Given the description of an element on the screen output the (x, y) to click on. 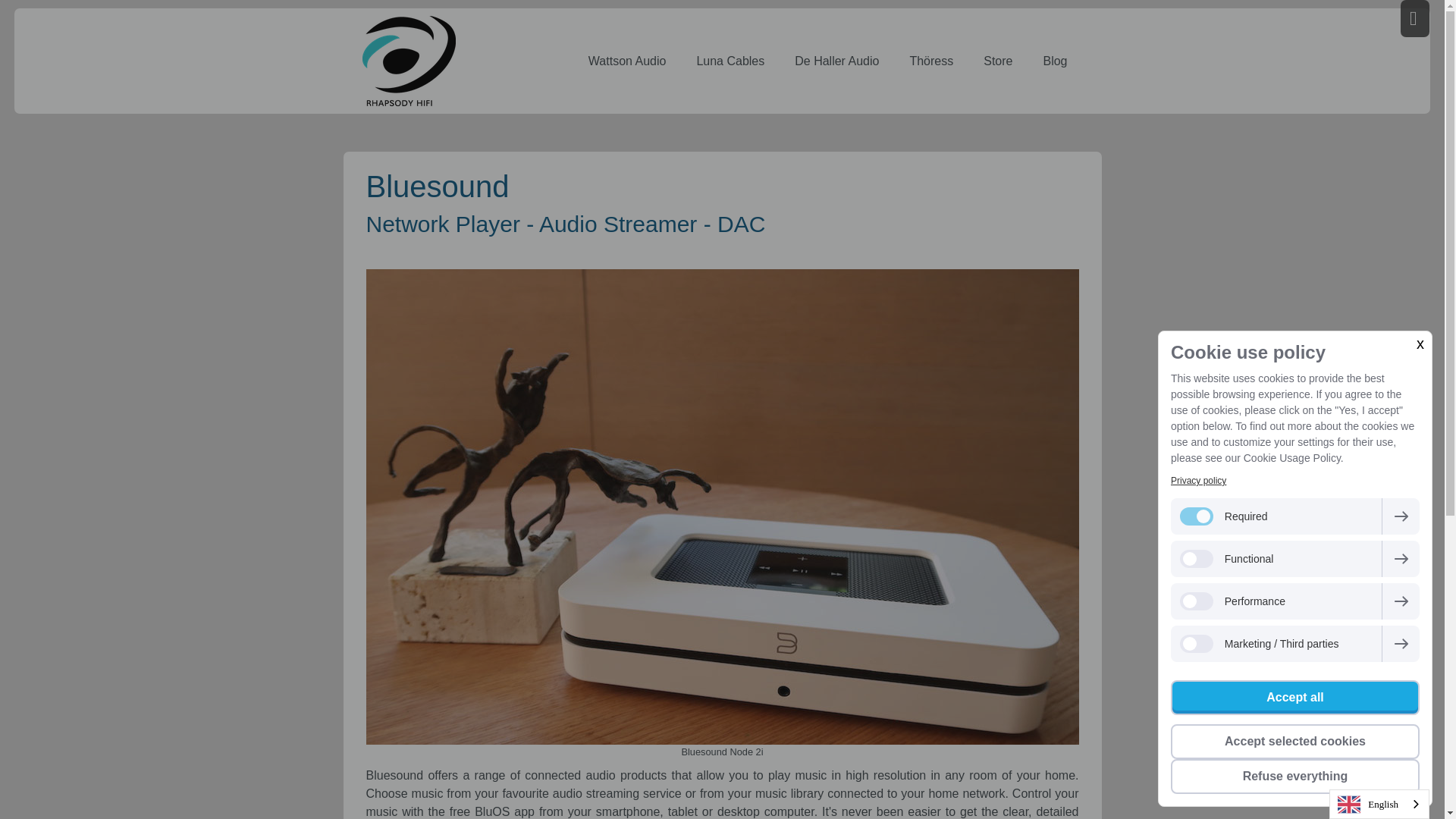
Store (997, 60)
De Haller Audio (836, 60)
Luna Cables (730, 60)
Wattson Audio (627, 60)
